Given the description of an element on the screen output the (x, y) to click on. 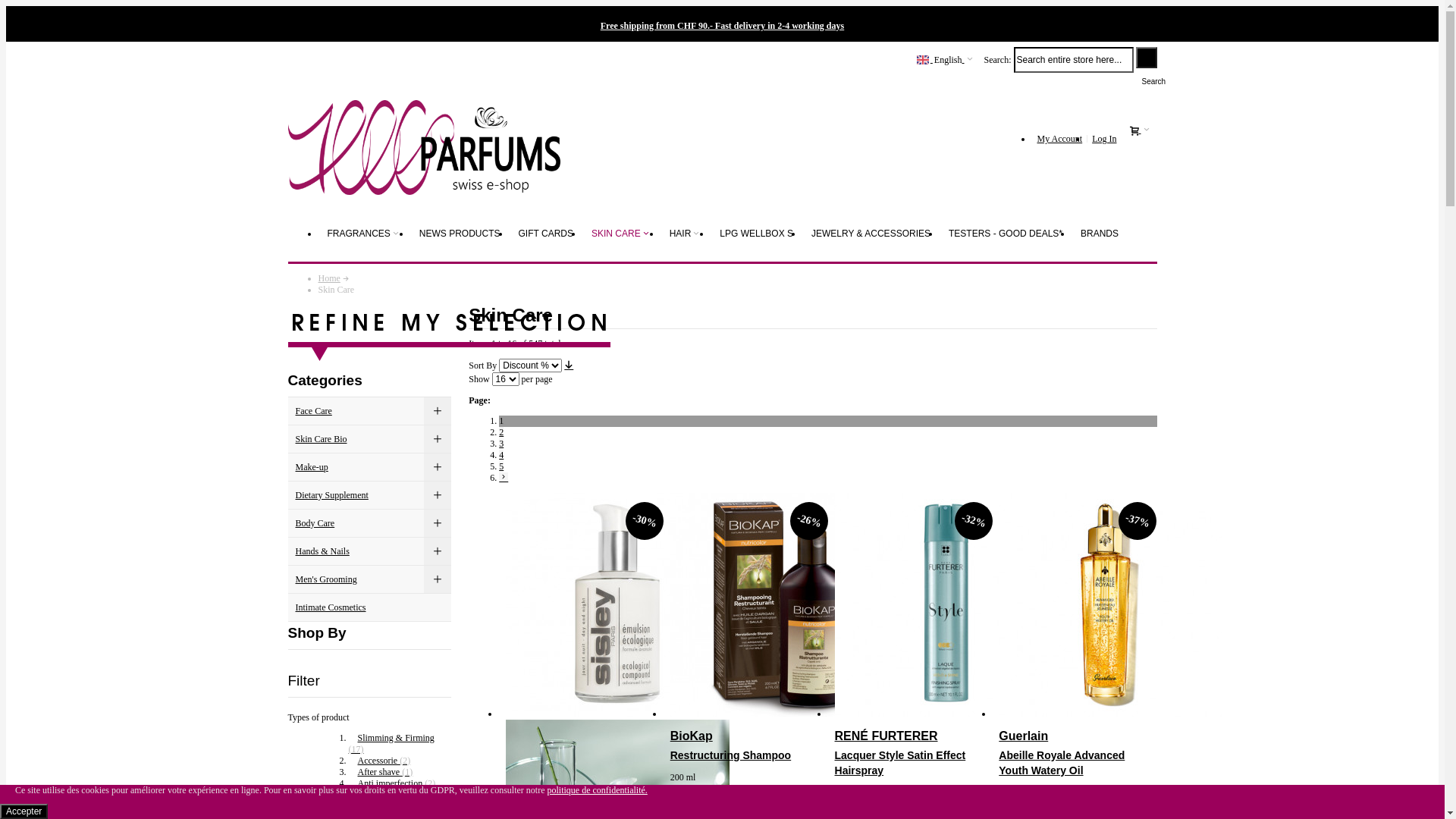
After shave (1) Element type: text (380, 771)
Skin Care Bio Element type: text (369, 439)
Log In Element type: text (1103, 138)
2 Element type: text (500, 431)
5 Element type: text (500, 466)
FRAGRANCES Element type: text (364, 233)
Slimming & Firming (17) Element type: text (391, 743)
BioKap
Restructuring Shampoo Element type: text (745, 744)
TESTERS - GOOD DEALS* Element type: text (1005, 233)
LPG WELLBOX S Element type: text (756, 233)
guerlain-abeille-royale-youth-watery-oil-50-ml-discount.jpg Element type: hover (1110, 713)
Next Element type: hover (503, 476)
Anti-Blemish (1) Element type: text (384, 794)
SKIN CARE Element type: text (621, 233)
Set Descending Direction Element type: hover (568, 364)
Intimate Cosmetics Element type: text (369, 607)
Guerlain
Abeille Royale Advanced Youth Watery Oil Element type: text (1073, 752)
biokap-restructuring-shampoo-200-ml-discount.jpg Element type: hover (782, 713)
Accessorie (2) Element type: text (379, 760)
Body Care Element type: text (369, 523)
Dietary Supplement Element type: text (369, 495)
Anti imperfection (2) Element type: text (392, 782)
1000 Parfums - Parfums moins cher Element type: hover (424, 139)
3 Element type: text (500, 443)
Face Care Element type: text (369, 411)
Baby care (6) Element type: text (377, 805)
JEWELRY & ACCESSORIES Element type: text (870, 233)
Home Element type: text (329, 278)
HAIR Element type: text (685, 233)
GIFT CARDS Element type: text (545, 233)
soin-rene-furterer-style-laque-effet-satine-style-femme.jpg Element type: hover (946, 713)
Search Element type: text (1146, 57)
Make-up Element type: text (369, 467)
Hands & Nails Element type: text (369, 551)
NEWS PRODUCTS Element type: text (459, 233)
Men's Grooming Element type: text (369, 579)
  English Element type: text (944, 58)
BRANDS Element type: text (1099, 233)
My Account Element type: text (1059, 138)
4 Element type: text (500, 454)
